Given the description of an element on the screen output the (x, y) to click on. 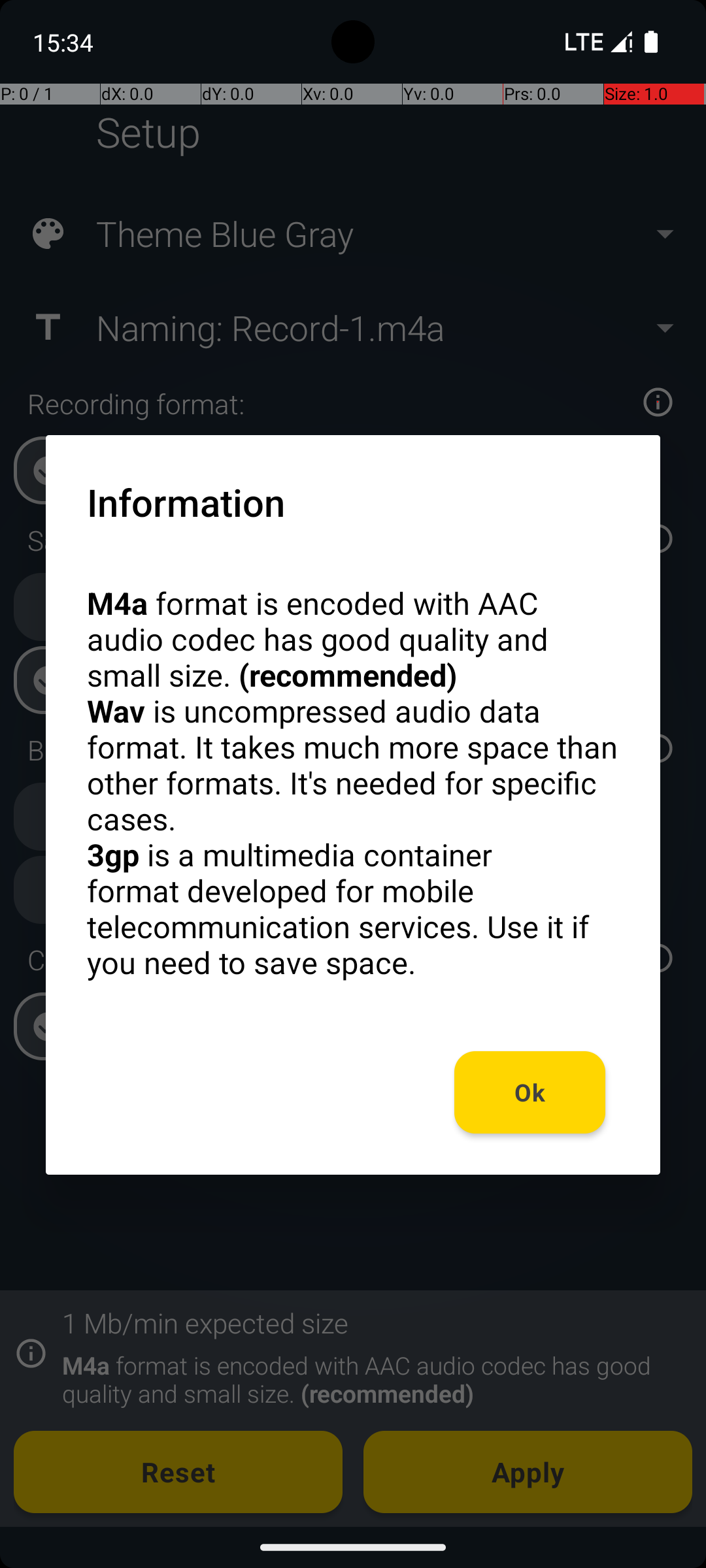
Information Element type: android.widget.TextView (185, 501)
M4a format is encoded with AAC audio codec has good quality and small size. (recommended) 
Wav is uncompressed audio data format. It takes much more space than other formats. It's needed for specific cases. 
3gp is a multimedia container format developed for mobile telecommunication services. Use it if you need to save space.  Element type: android.widget.TextView (352, 782)
Ok Element type: android.widget.Button (529, 1092)
